Given the description of an element on the screen output the (x, y) to click on. 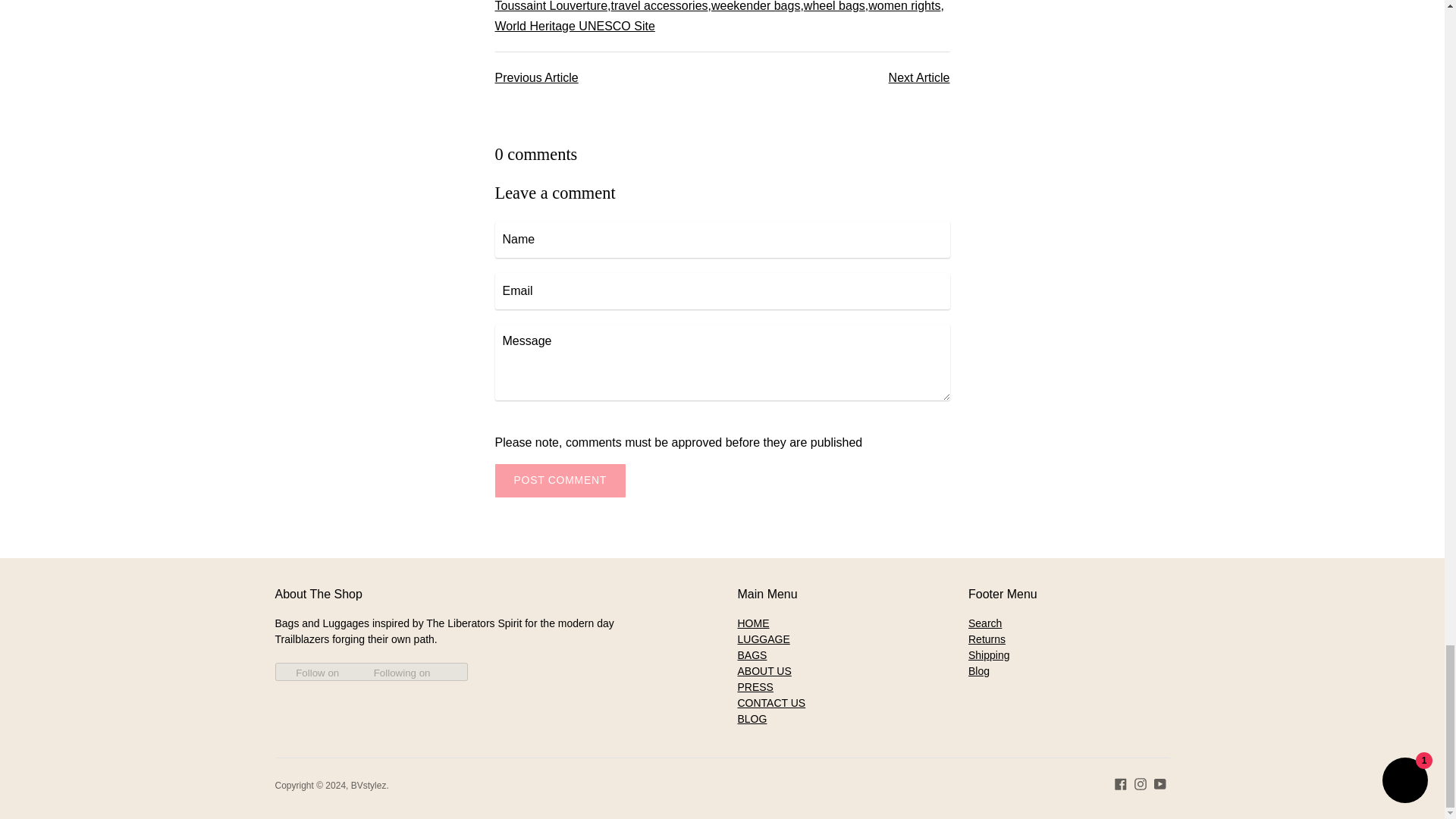
BVstylez on Facebook (1120, 782)
Post comment (559, 480)
BVstylez on YouTube (1160, 782)
BVstylez on Instagram (1140, 782)
